Given the description of an element on the screen output the (x, y) to click on. 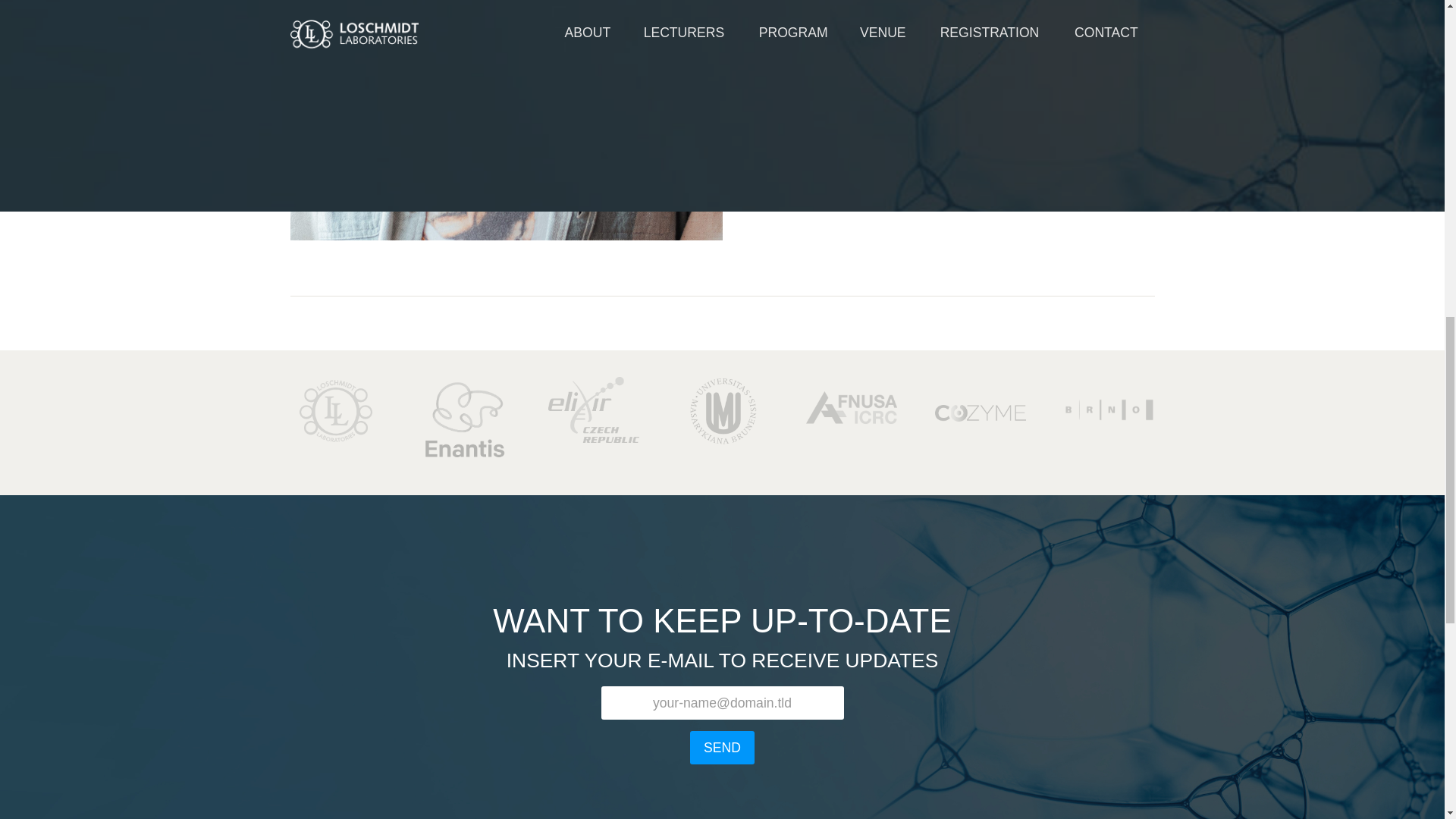
SEND (722, 747)
